Given the description of an element on the screen output the (x, y) to click on. 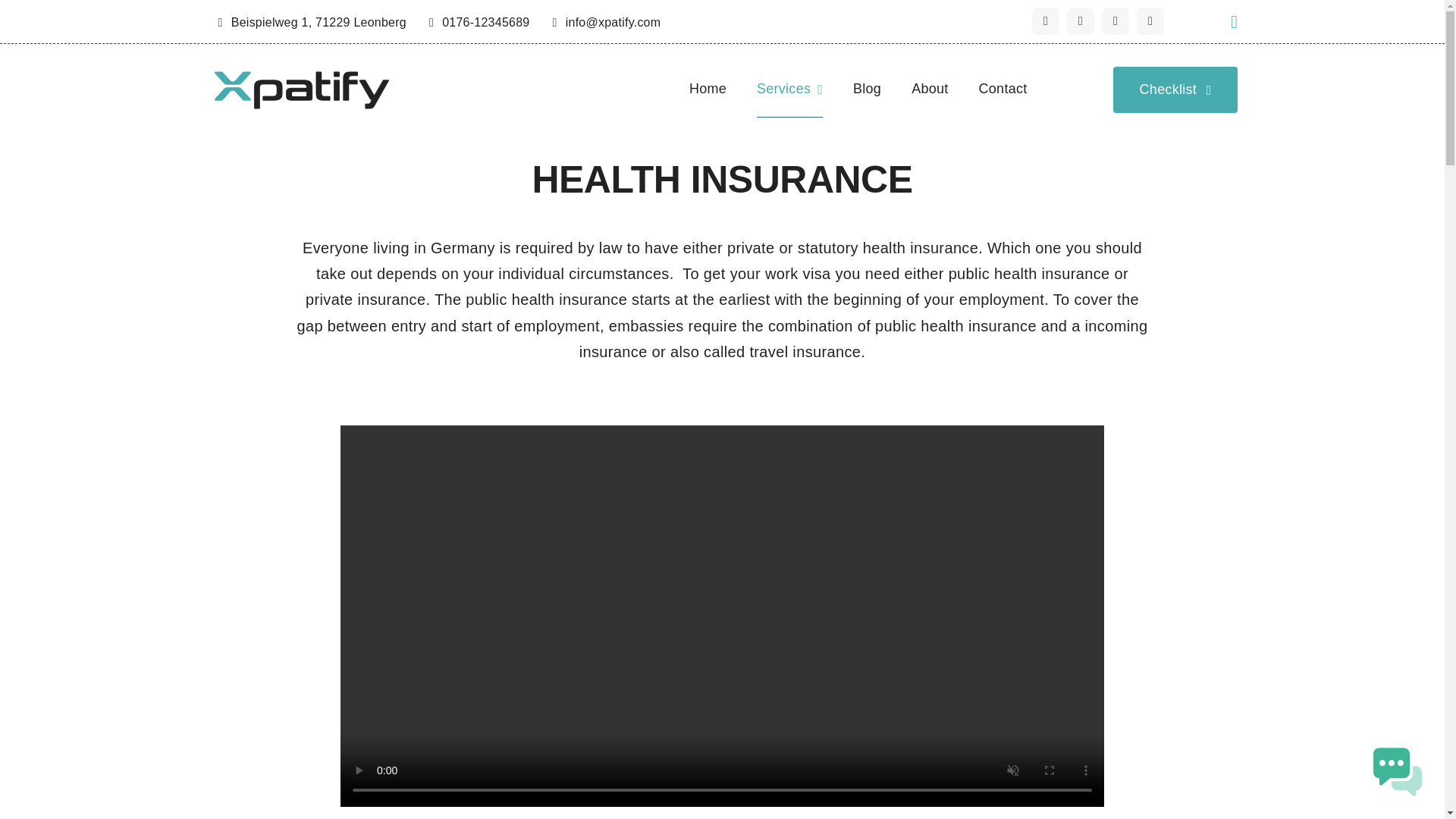
Checklist (1176, 89)
0176-12345689 (479, 20)
Beispielweg 1, 71229 Leonberg (311, 20)
Services (789, 90)
